Given the description of an element on the screen output the (x, y) to click on. 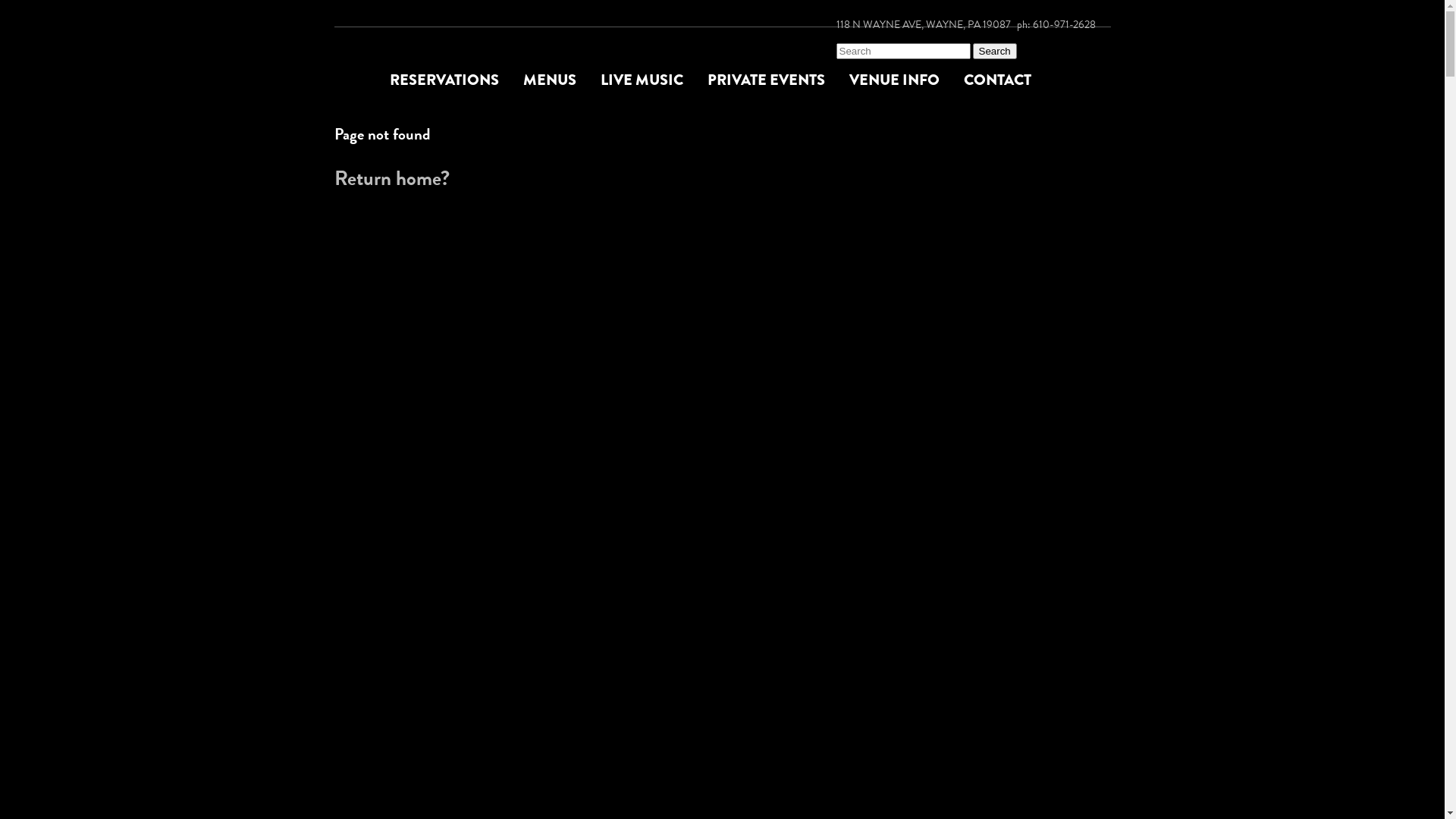
Return home? Element type: text (390, 178)
MENUS Element type: text (561, 79)
CONTACT Element type: text (1008, 79)
Search Element type: text (994, 51)
118 N WAYNE AVE, WAYNE, PA 19087 Element type: text (922, 24)
LIVE MUSIC Element type: text (653, 79)
RESERVATIONS Element type: text (456, 79)
VENUE INFO Element type: text (906, 79)
PRIVATE EVENTS Element type: text (777, 79)
ph: 610-971-2628 Element type: text (1055, 24)
